Given the description of an element on the screen output the (x, y) to click on. 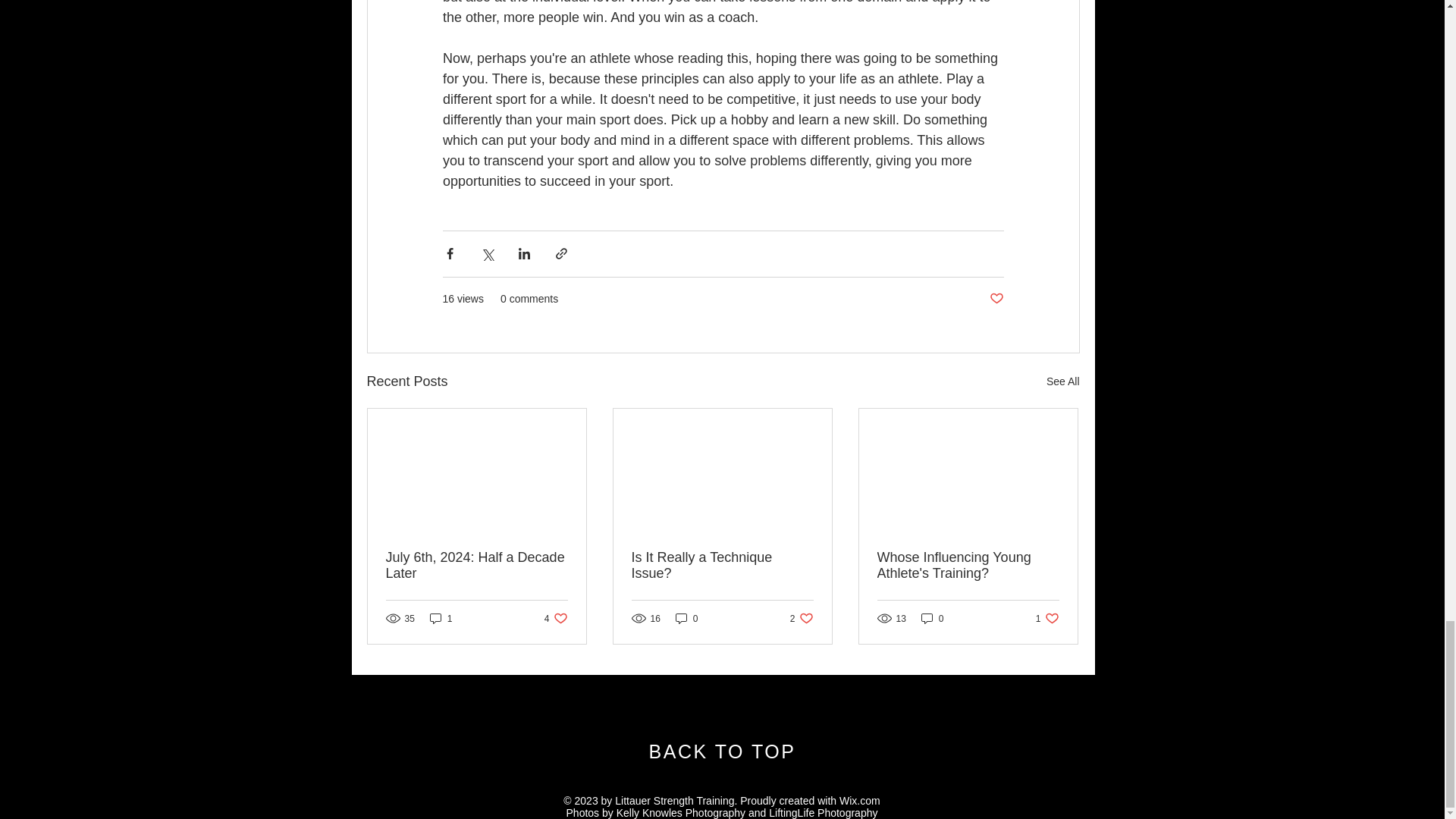
BACK TO TOP (801, 617)
Post not marked as liked (722, 751)
Is It Really a Technique Issue? (995, 299)
1 (721, 565)
Whose Influencing Young Athlete's Training? (441, 617)
0 (1047, 617)
Wix.com (555, 617)
